Given the description of an element on the screen output the (x, y) to click on. 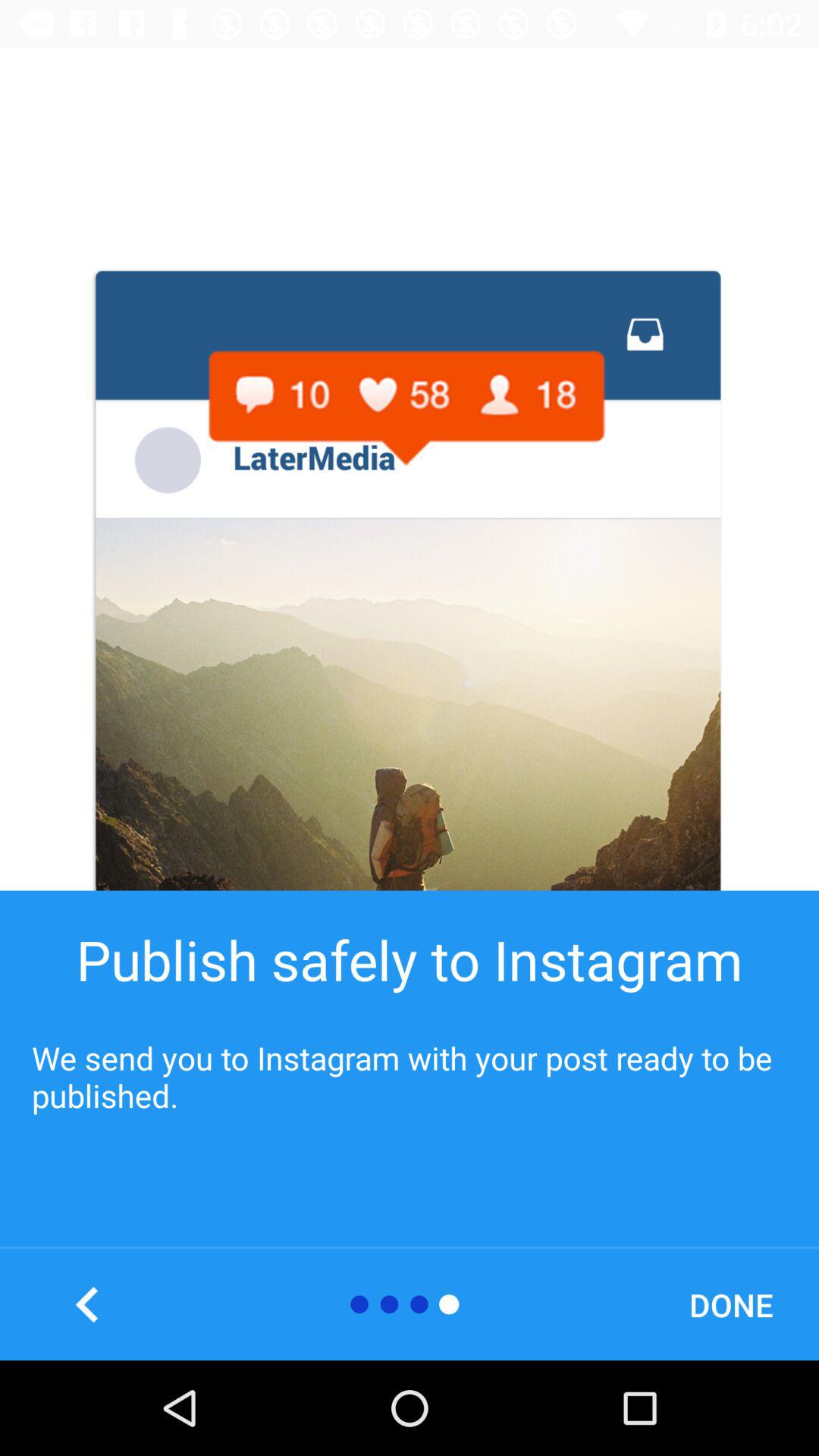
scroll to the done (731, 1304)
